Given the description of an element on the screen output the (x, y) to click on. 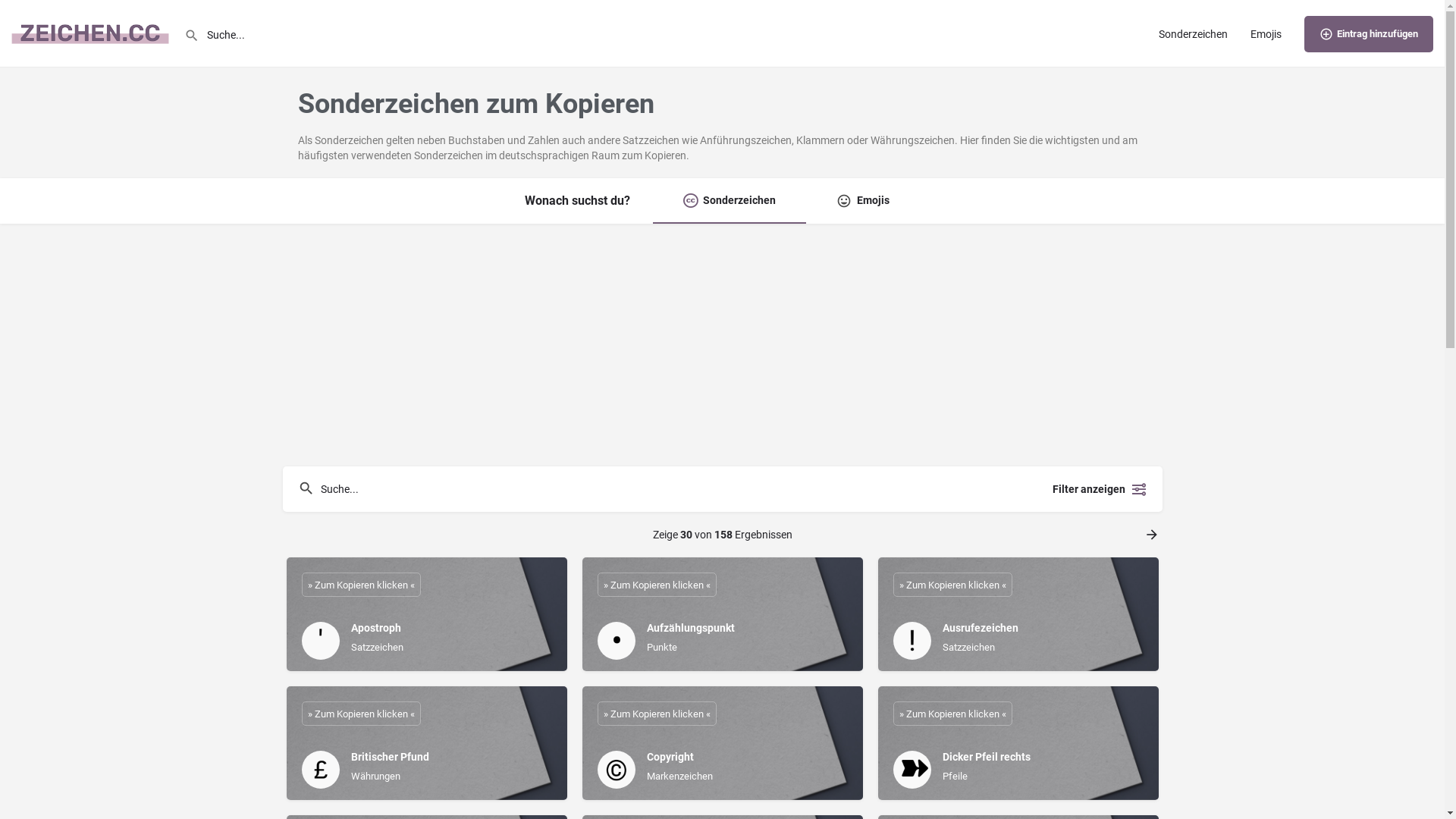
Apostroph
Satzzeichen Element type: text (426, 614)
Emojis Element type: text (1265, 32)
Advertisement Element type: hover (721, 344)
Ausrufezeichen
Satzzeichen Element type: text (1018, 614)
Emojis Element type: text (862, 200)
Filter anzeigen Element type: text (1095, 488)
Sonderzeichen Element type: text (1192, 32)
Copyright
Markenzeichen Element type: text (722, 743)
Sonderzeichen Element type: text (729, 200)
Dicker Pfeil rechts
Pfeile Element type: text (1018, 743)
